Given the description of an element on the screen output the (x, y) to click on. 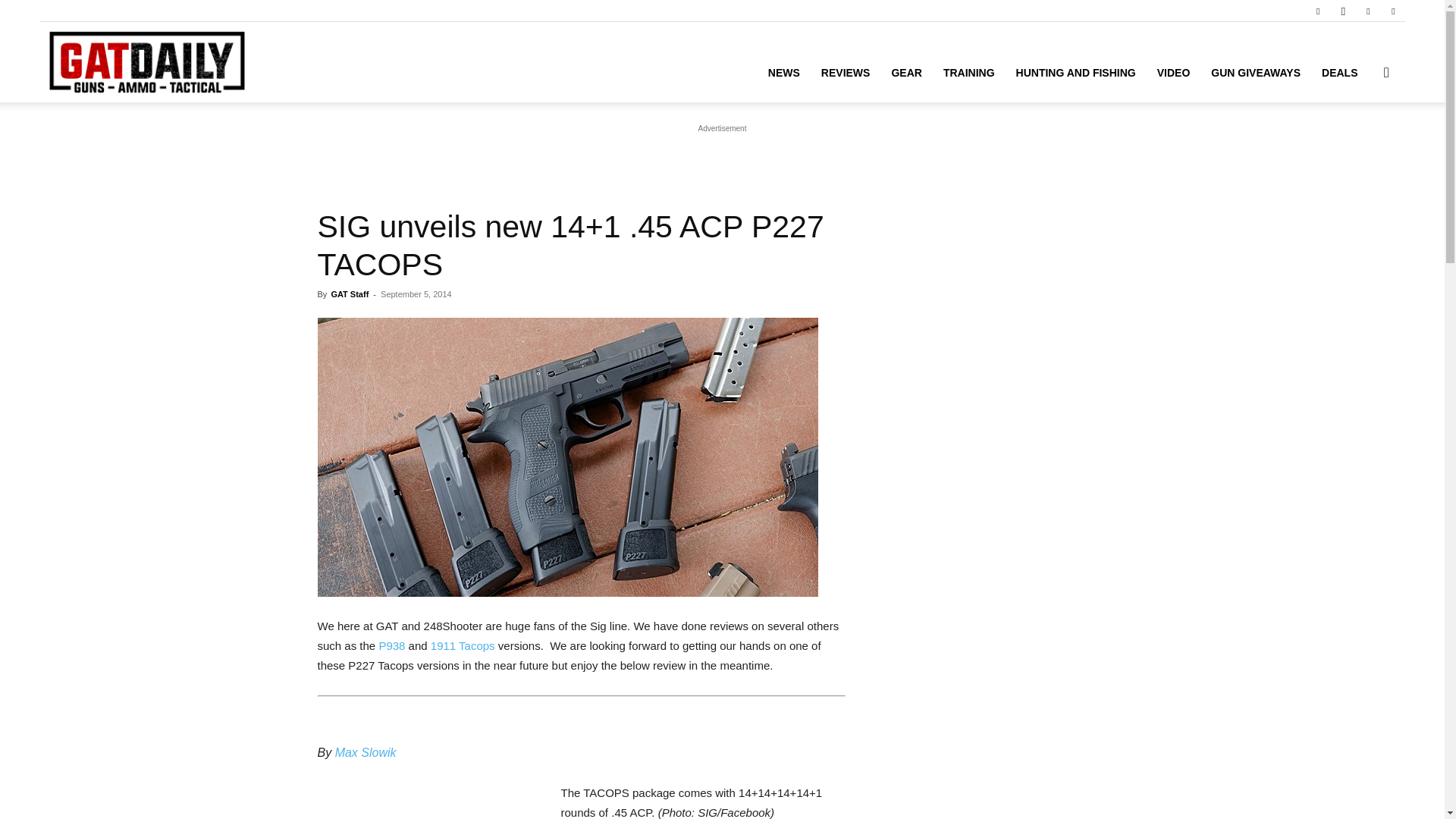
Twitter (1367, 10)
Facebook (1317, 10)
Search (1362, 144)
Youtube (1393, 10)
Guns Ammo Tactical Daily Gear Blog (146, 62)
Instagram (1343, 10)
